Given the description of an element on the screen output the (x, y) to click on. 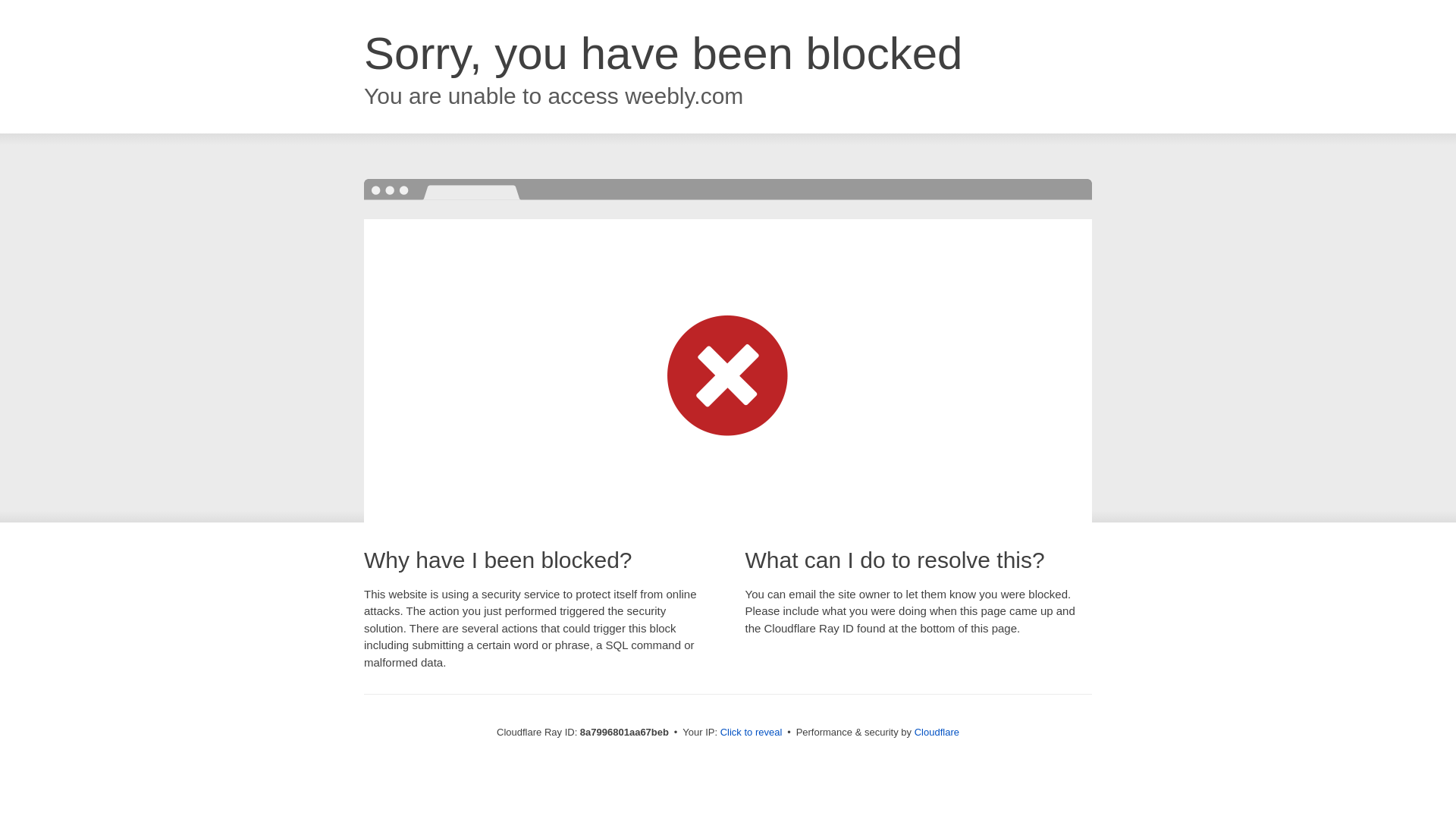
Click to reveal (751, 732)
Cloudflare (936, 731)
